Given the description of an element on the screen output the (x, y) to click on. 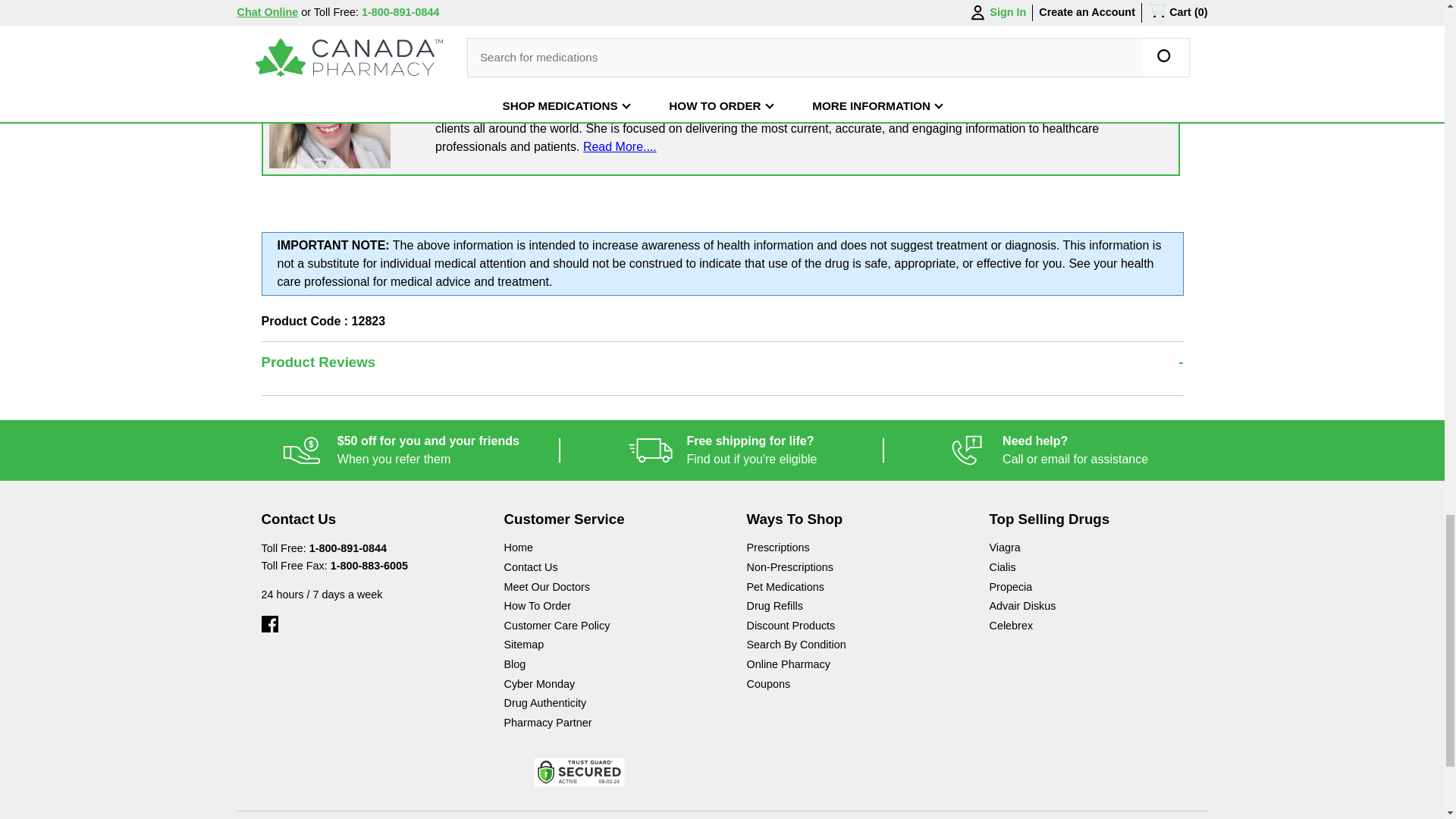
Read More.... (721, 450)
1-800-891-0844 (619, 146)
Home (347, 547)
